Given the description of an element on the screen output the (x, y) to click on. 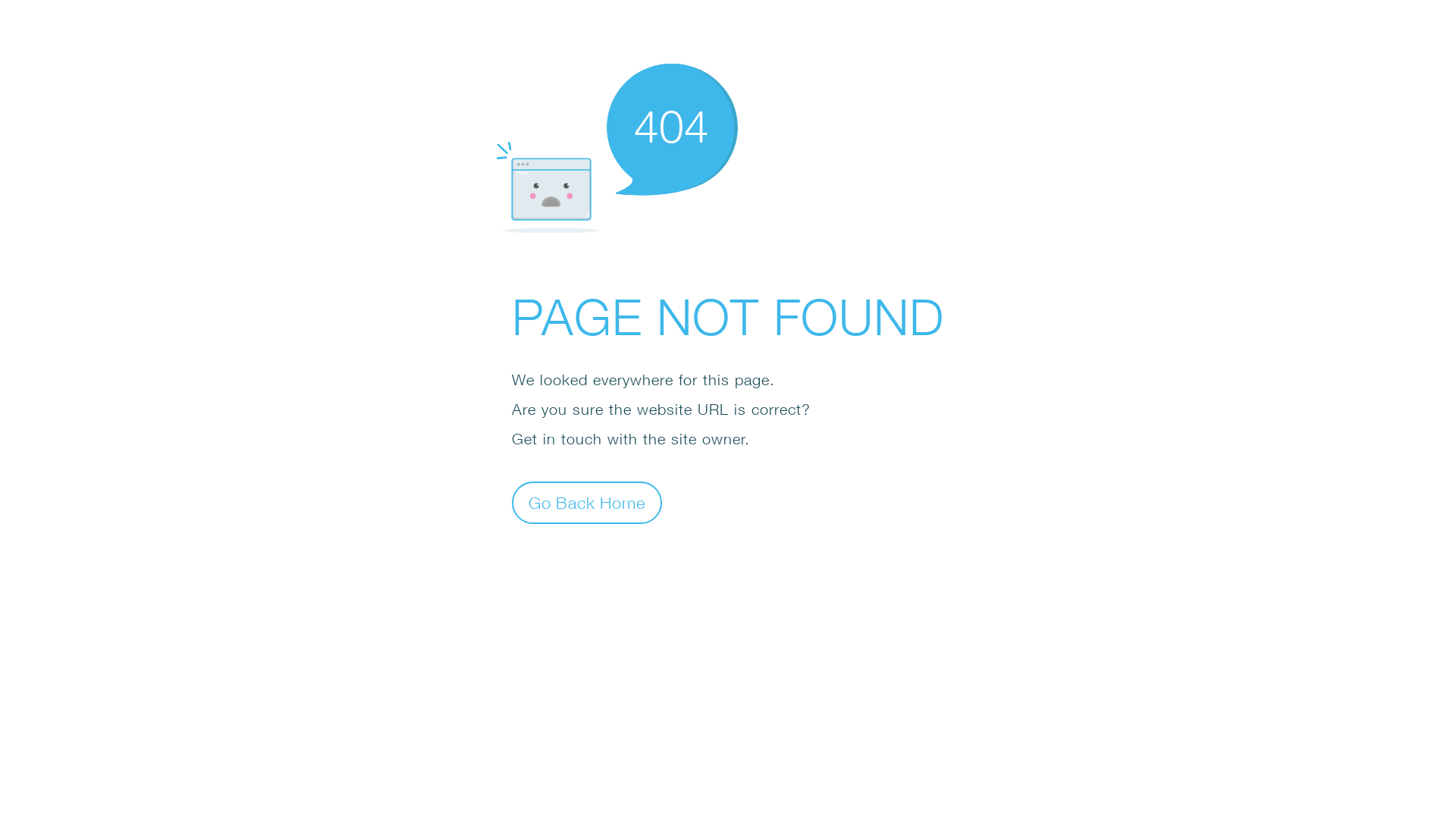
Go Back Home Element type: text (586, 502)
